Given the description of an element on the screen output the (x, y) to click on. 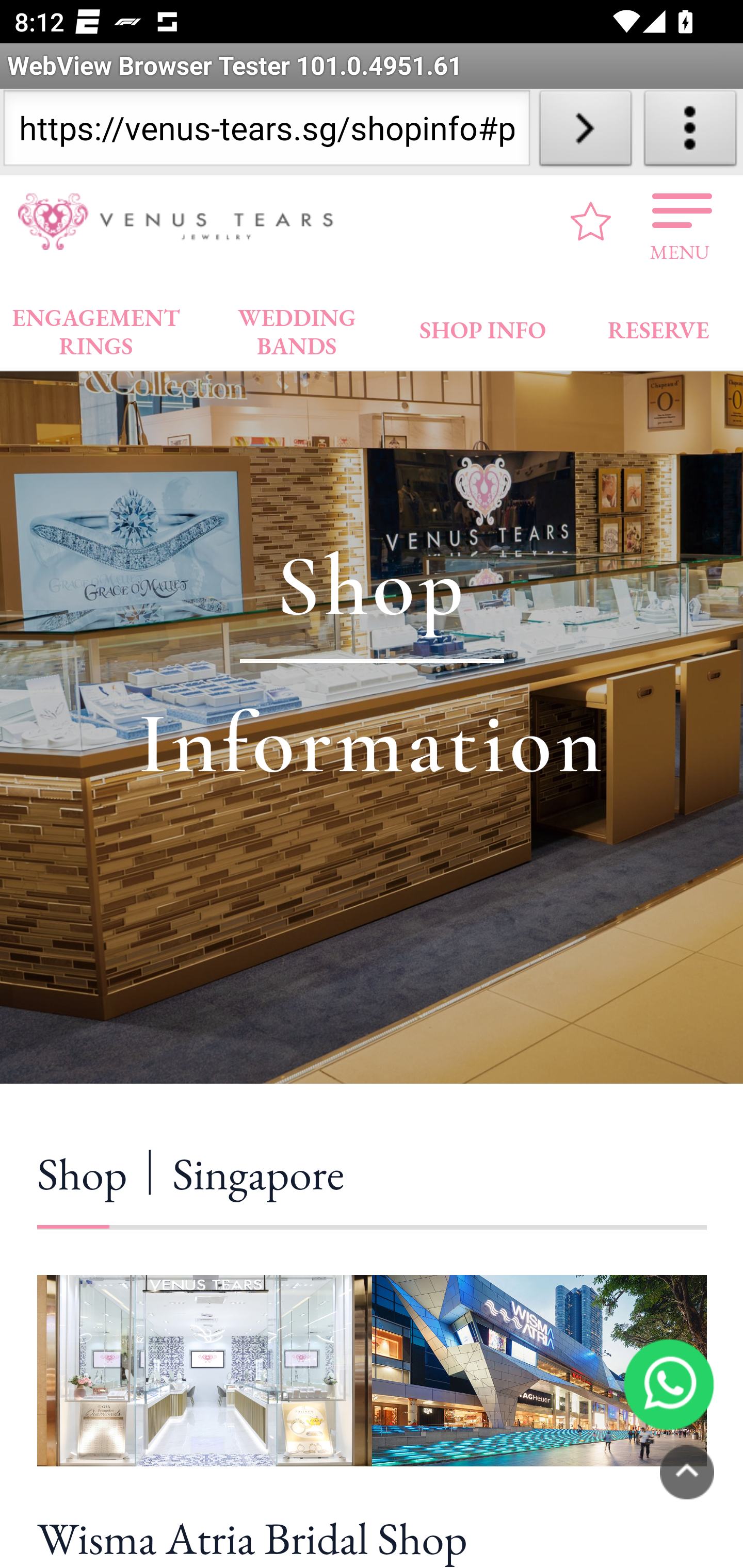
https://venus-tears.sg/shopinfo#pagetop (266, 132)
Load URL (585, 132)
About WebView (690, 132)
favourite (591, 220)
MENU (680, 220)
VENUS TEARS (181, 221)
ENGAGEMENT RINGS ENGAGEMENT RINGS (96, 326)
WEDDING BANDS WEDDING BANDS (296, 326)
SHOP INFO (482, 325)
RESERVE (657, 325)
6585184875 (668, 1383)
PAGETOP (686, 1472)
Wisma Atria Bridal Shop (372, 1535)
